Given the description of an element on the screen output the (x, y) to click on. 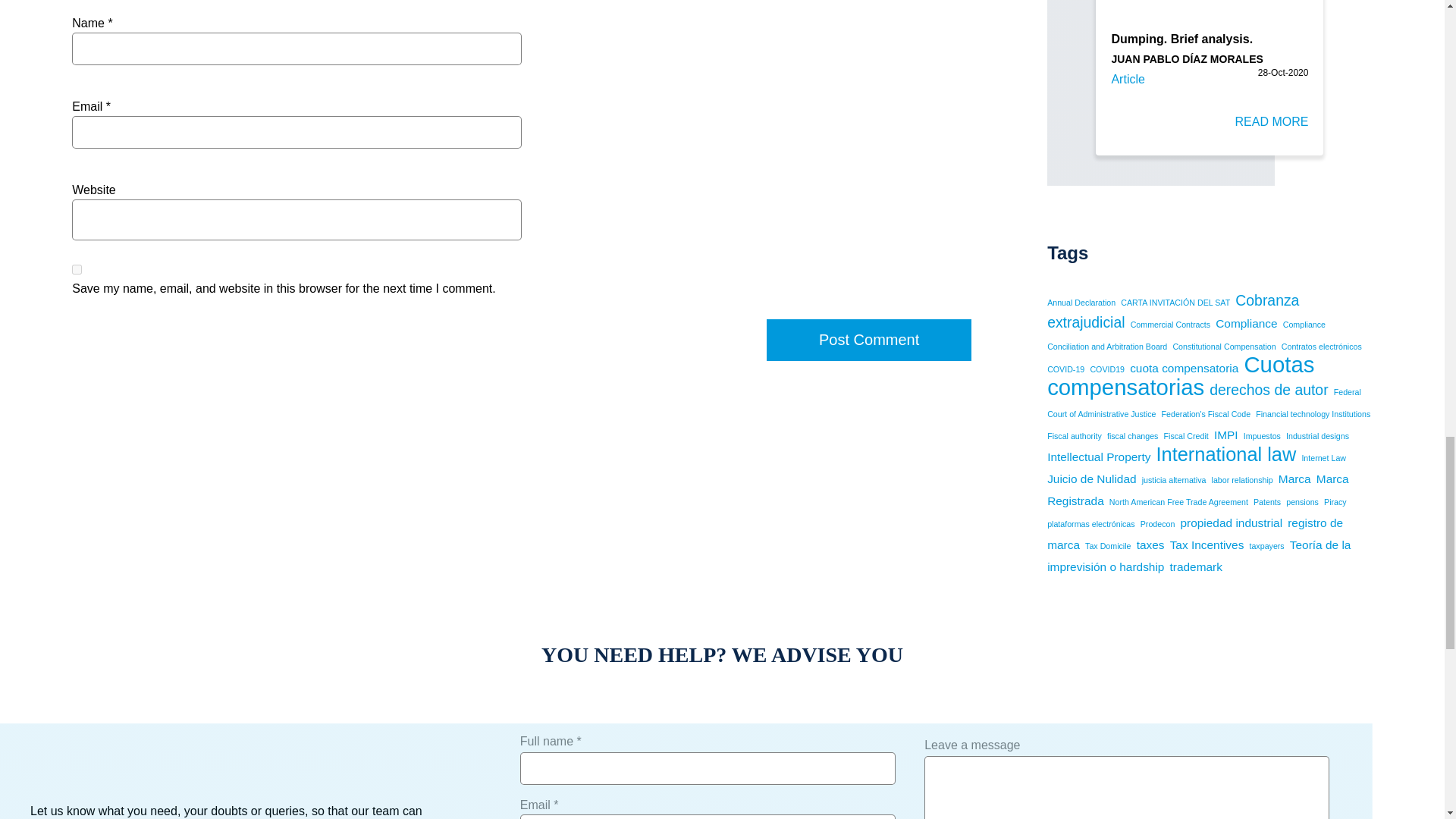
yes (76, 269)
READ MORE (1271, 126)
Post Comment (869, 340)
Article (1127, 78)
Post Comment (869, 340)
Annual Declaration (1080, 302)
